Given the description of an element on the screen output the (x, y) to click on. 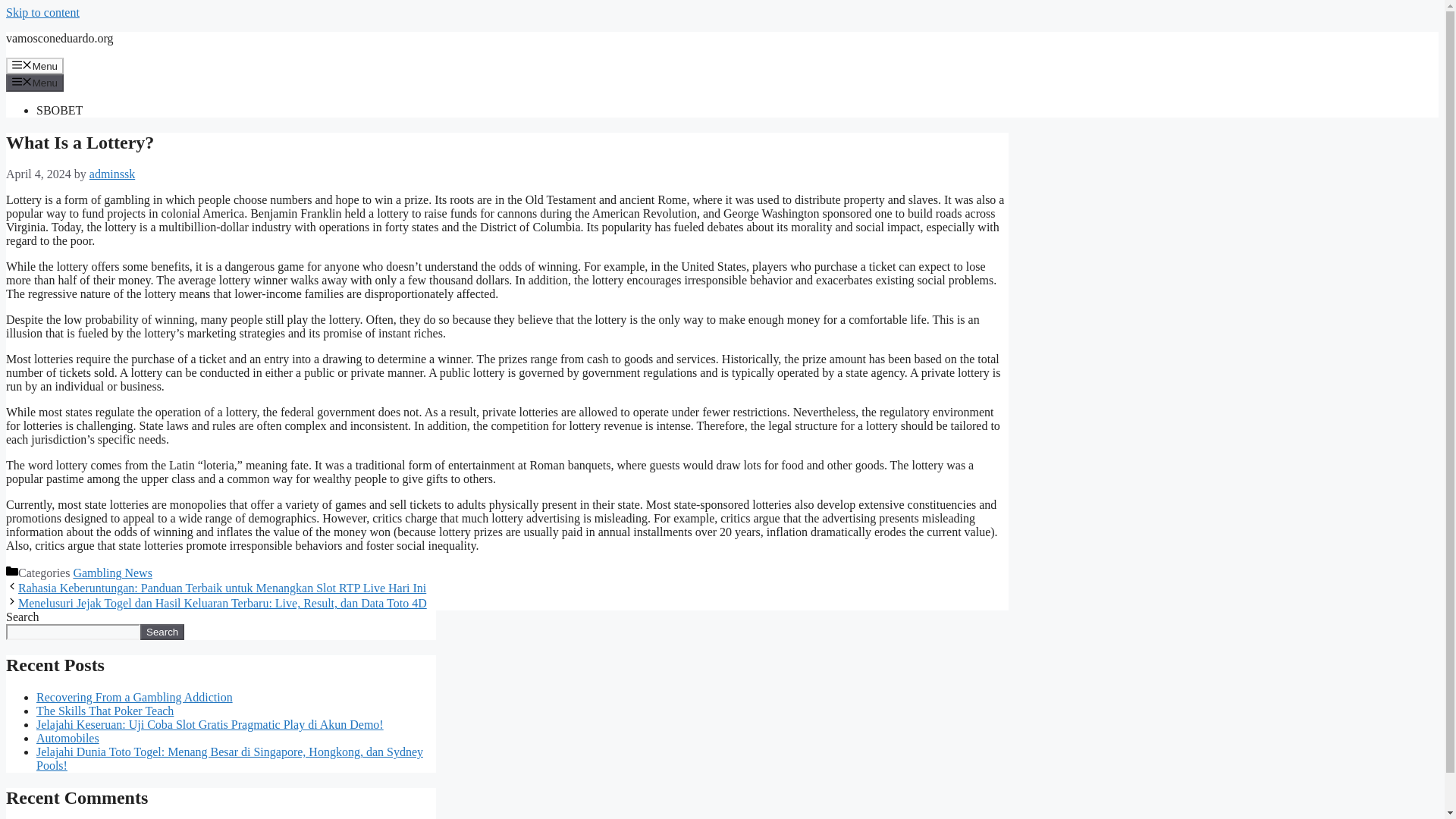
Skip to content (42, 11)
Search (161, 631)
adminssk (111, 173)
Recovering From a Gambling Addiction (134, 697)
Gambling News (111, 572)
Menu (34, 82)
View all posts by adminssk (111, 173)
SBOBET (59, 110)
